Given the description of an element on the screen output the (x, y) to click on. 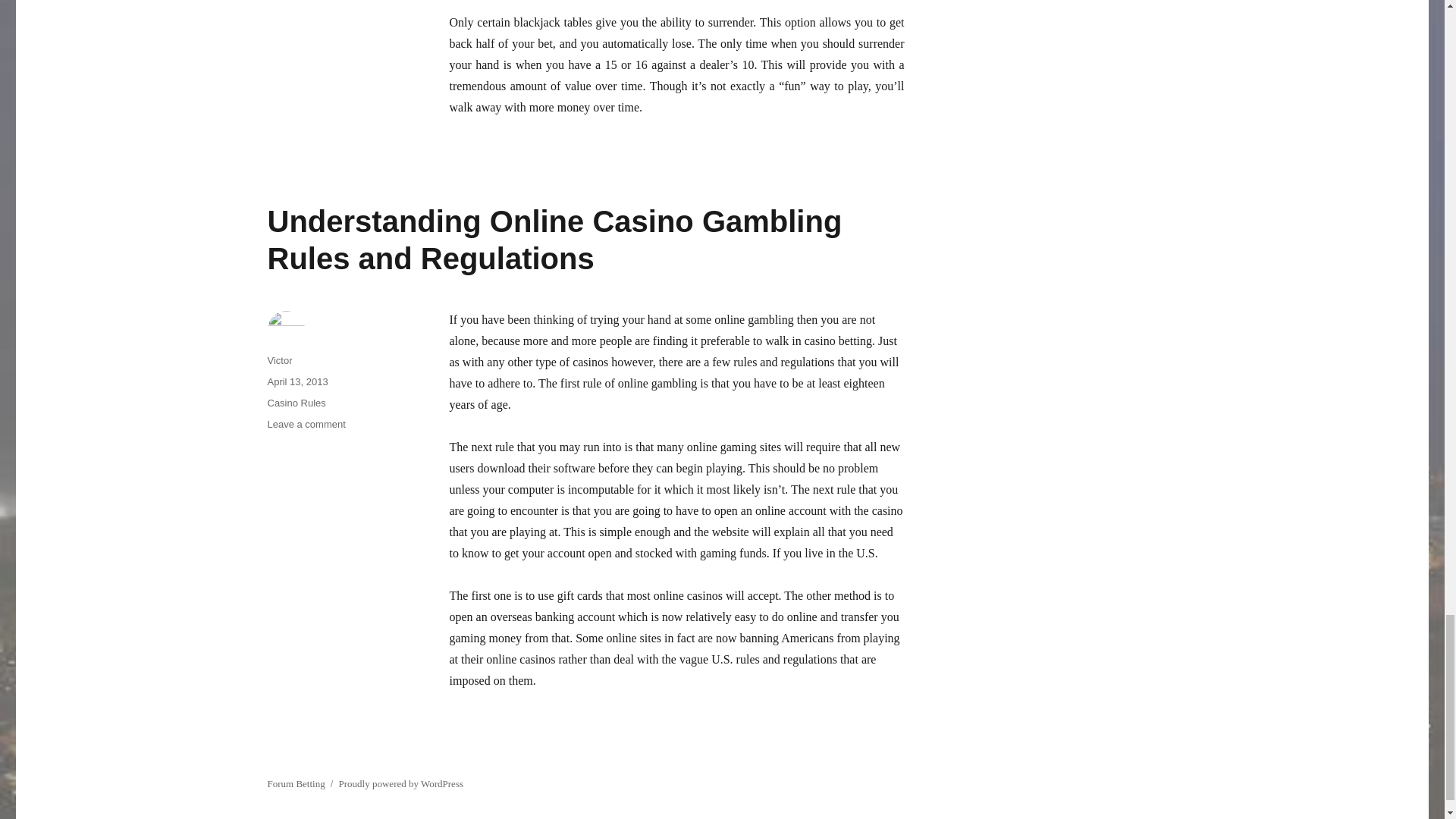
Understanding Online Casino Gambling Rules and Regulations (553, 239)
April 13, 2013 (296, 381)
Casino Rules (295, 402)
Victor (279, 360)
